Given the description of an element on the screen output the (x, y) to click on. 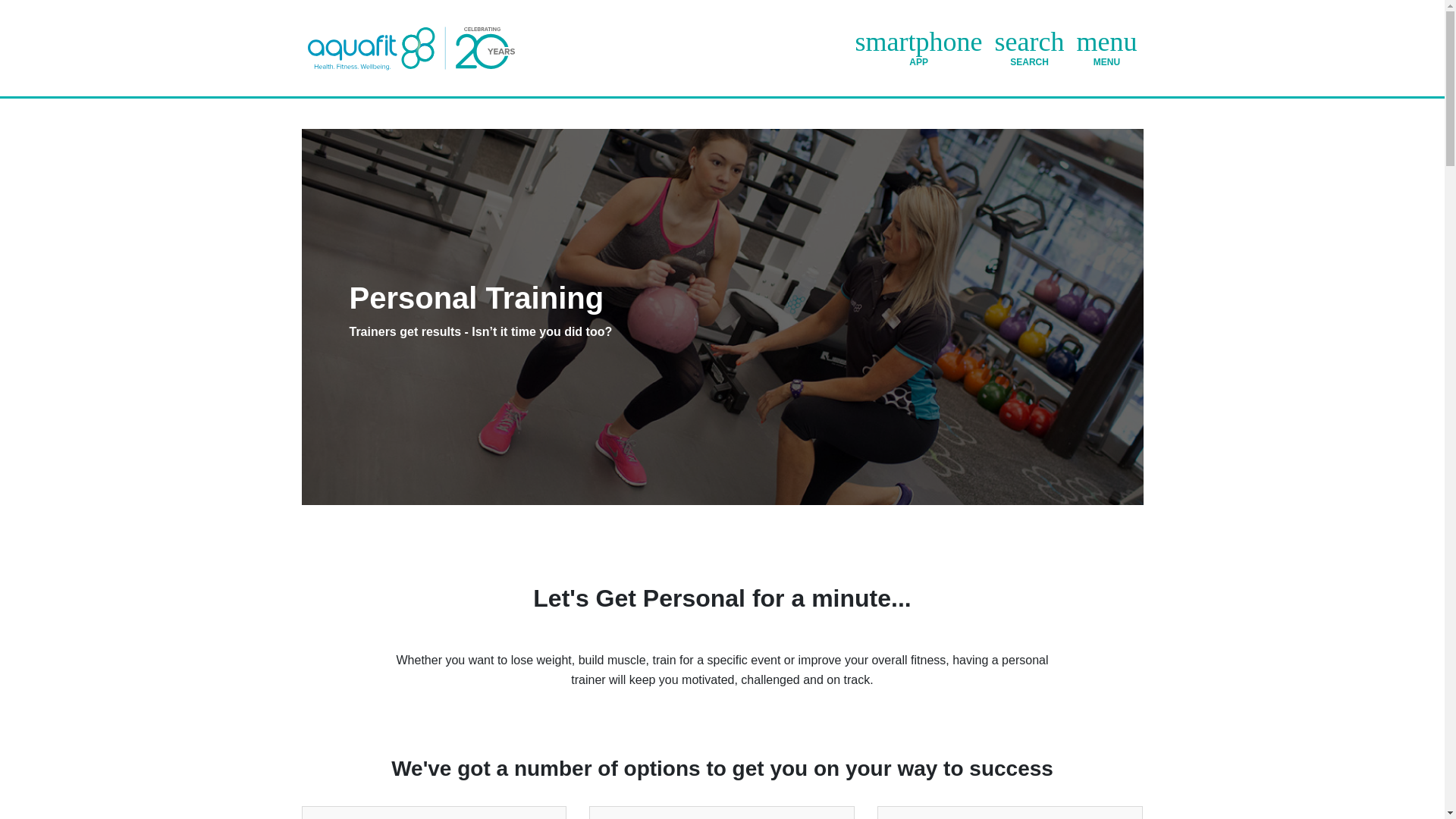
Aquafit logo (1107, 47)
